Given the description of an element on the screen output the (x, y) to click on. 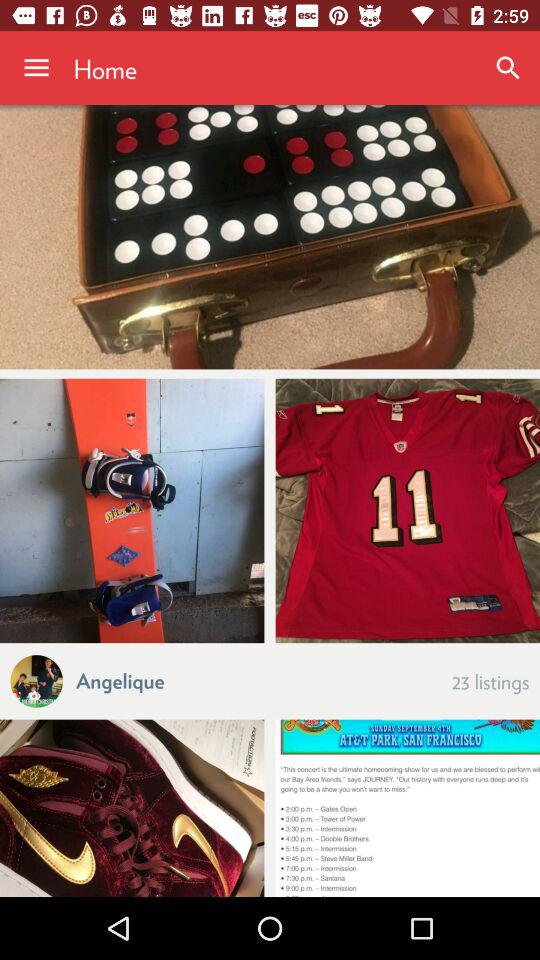
choose the icon next to 23 listings icon (120, 679)
